Given the description of an element on the screen output the (x, y) to click on. 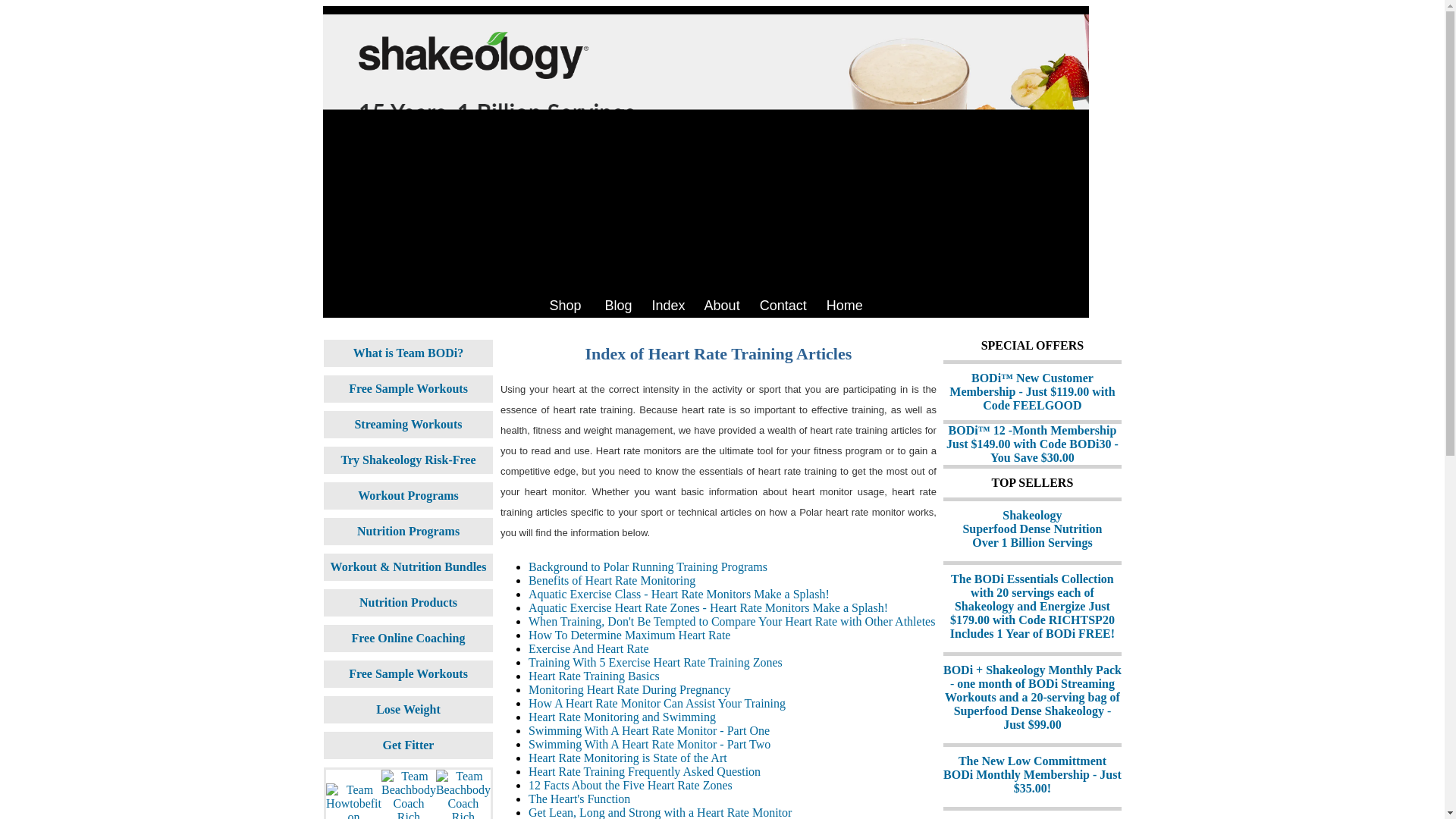
Index (668, 305)
Blog (618, 305)
Shop (564, 305)
Heart Rate Monitoring and Swimming (622, 716)
Get Lean, Long and Strong with a Heart Rate Monitor (660, 812)
Heart Rate Training Basics (593, 675)
Swimming With A Heart Rate Monitor - Part Two (649, 744)
Heart Rate Monitoring is State of the Art (627, 757)
Swimming With A Heart Rate Monitor - Part One (649, 730)
Home (845, 305)
